Given the description of an element on the screen output the (x, y) to click on. 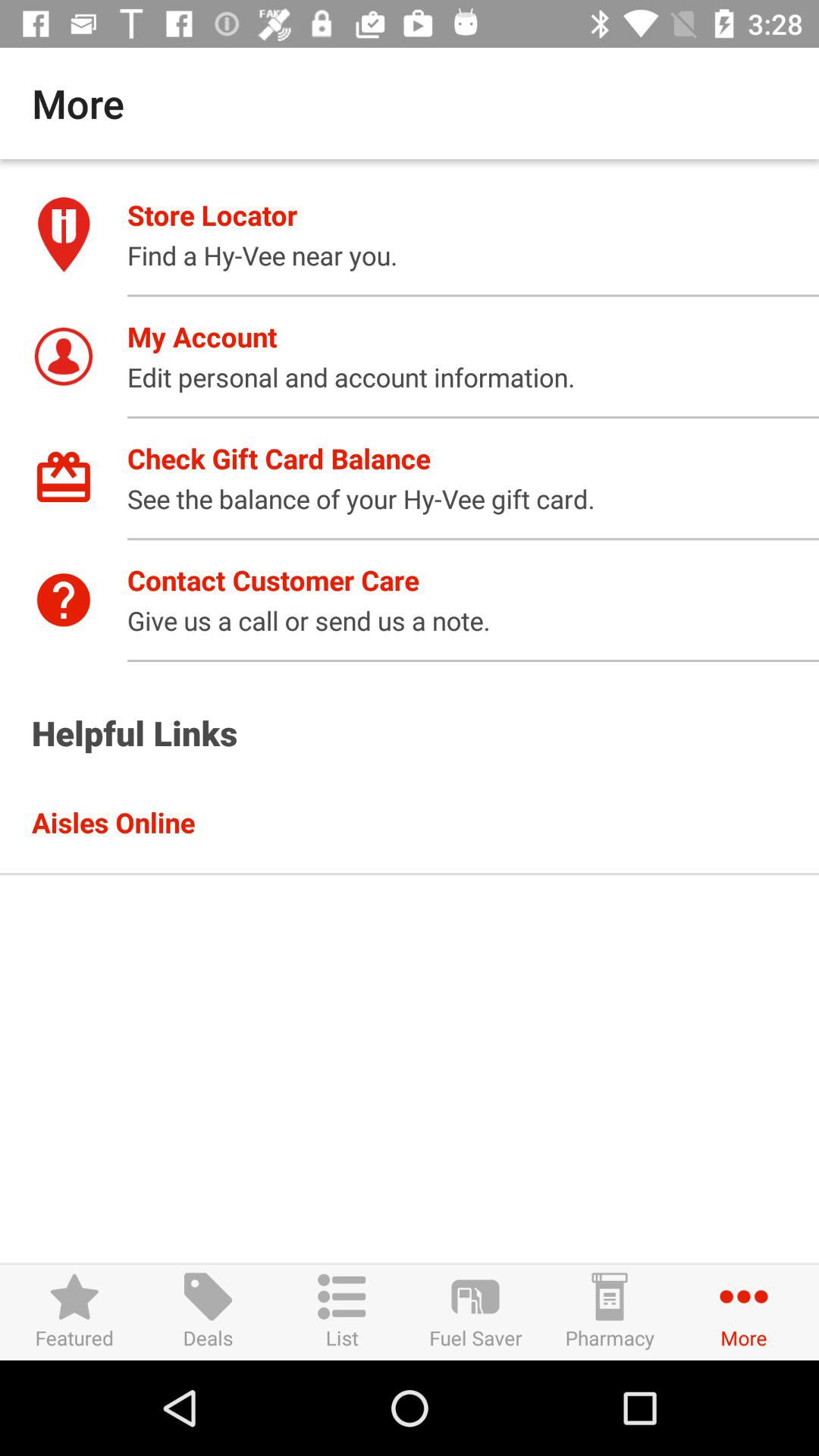
select item next to fuel saver icon (609, 1311)
